Given the description of an element on the screen output the (x, y) to click on. 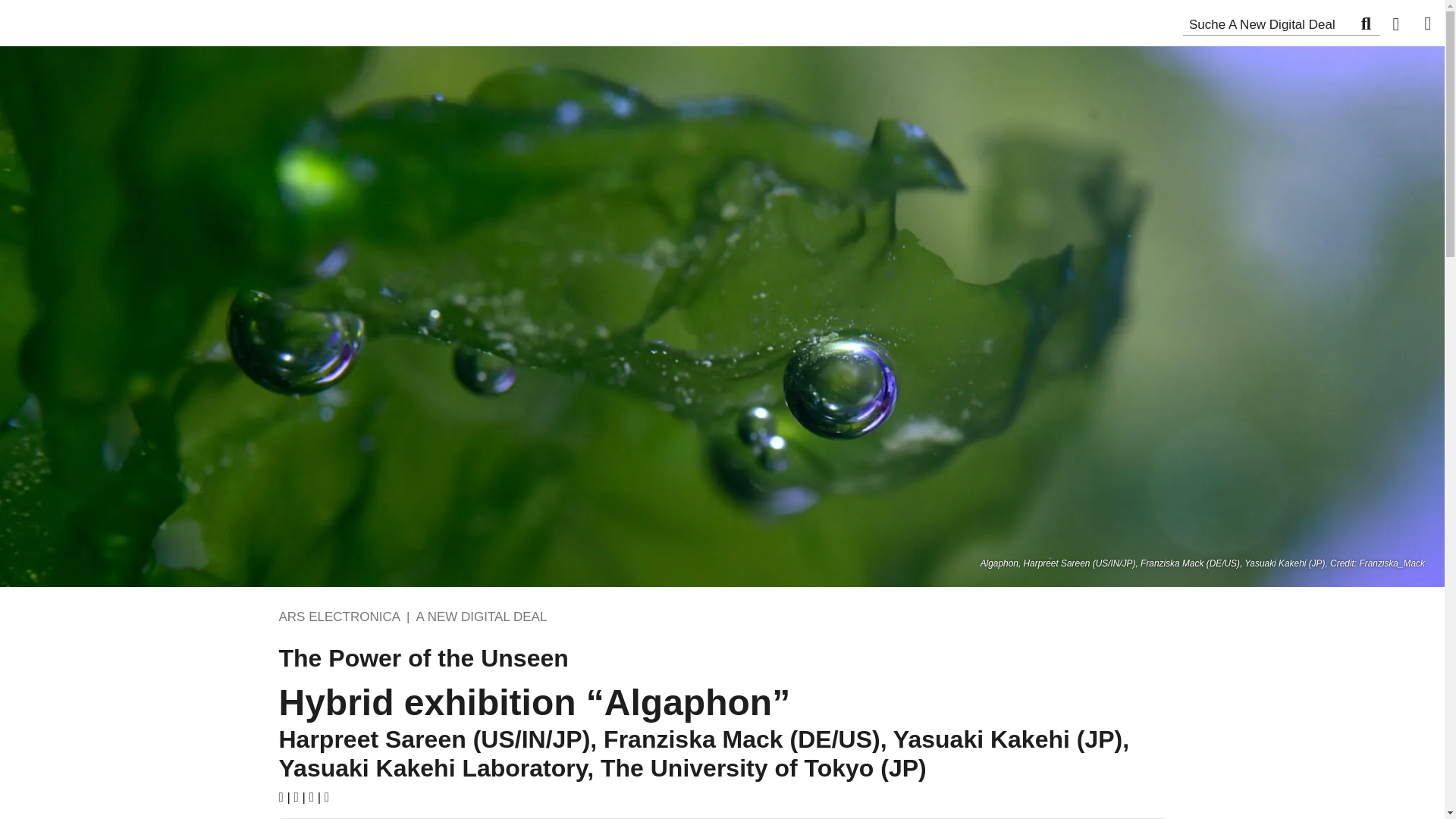
Ars Electronica (106, 20)
Suche A New Digital Deal (1365, 22)
